Given the description of an element on the screen output the (x, y) to click on. 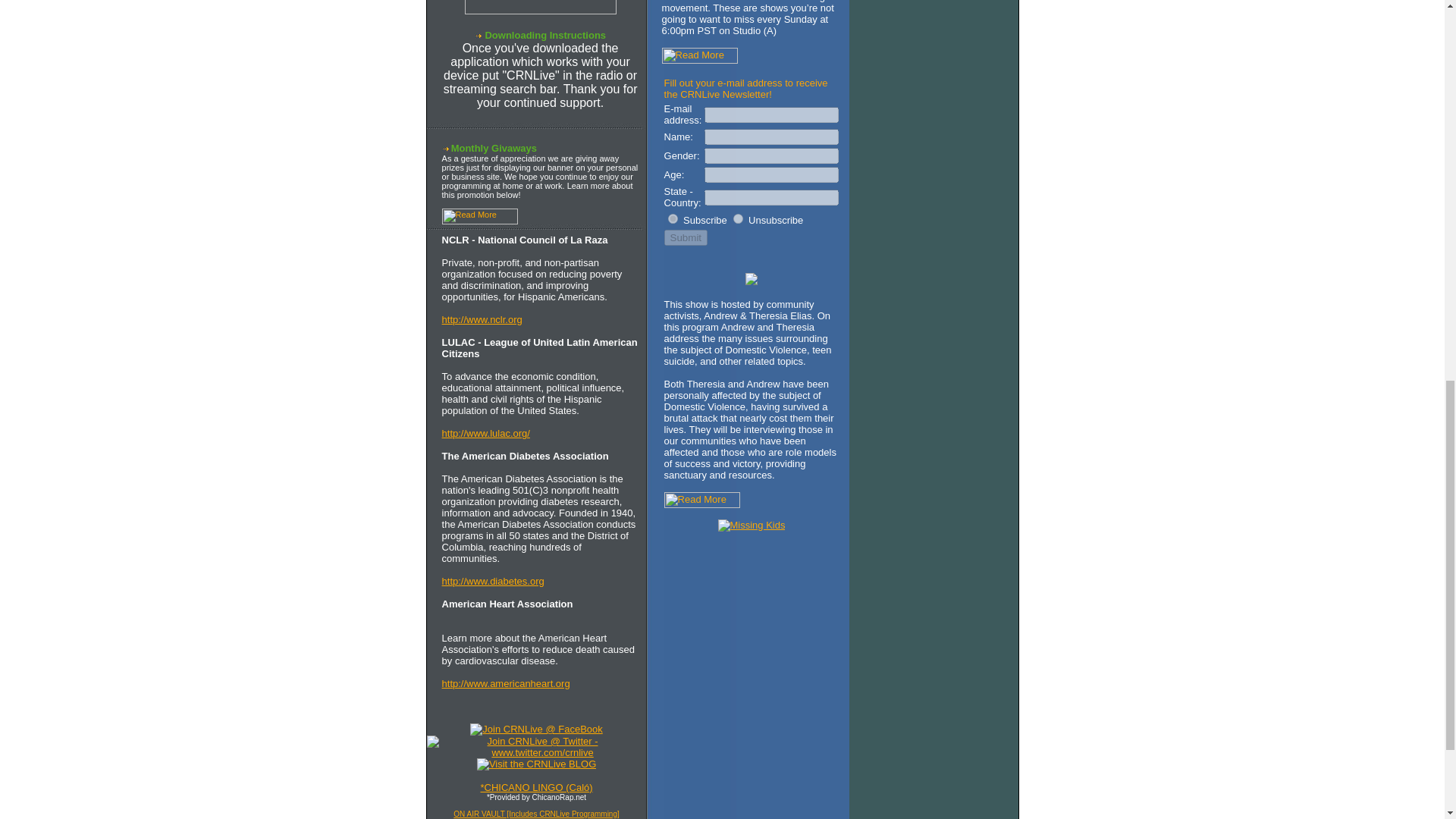
Submit (685, 237)
unsubscribe (737, 218)
subscribe (673, 218)
Submit (685, 237)
